Given the description of an element on the screen output the (x, y) to click on. 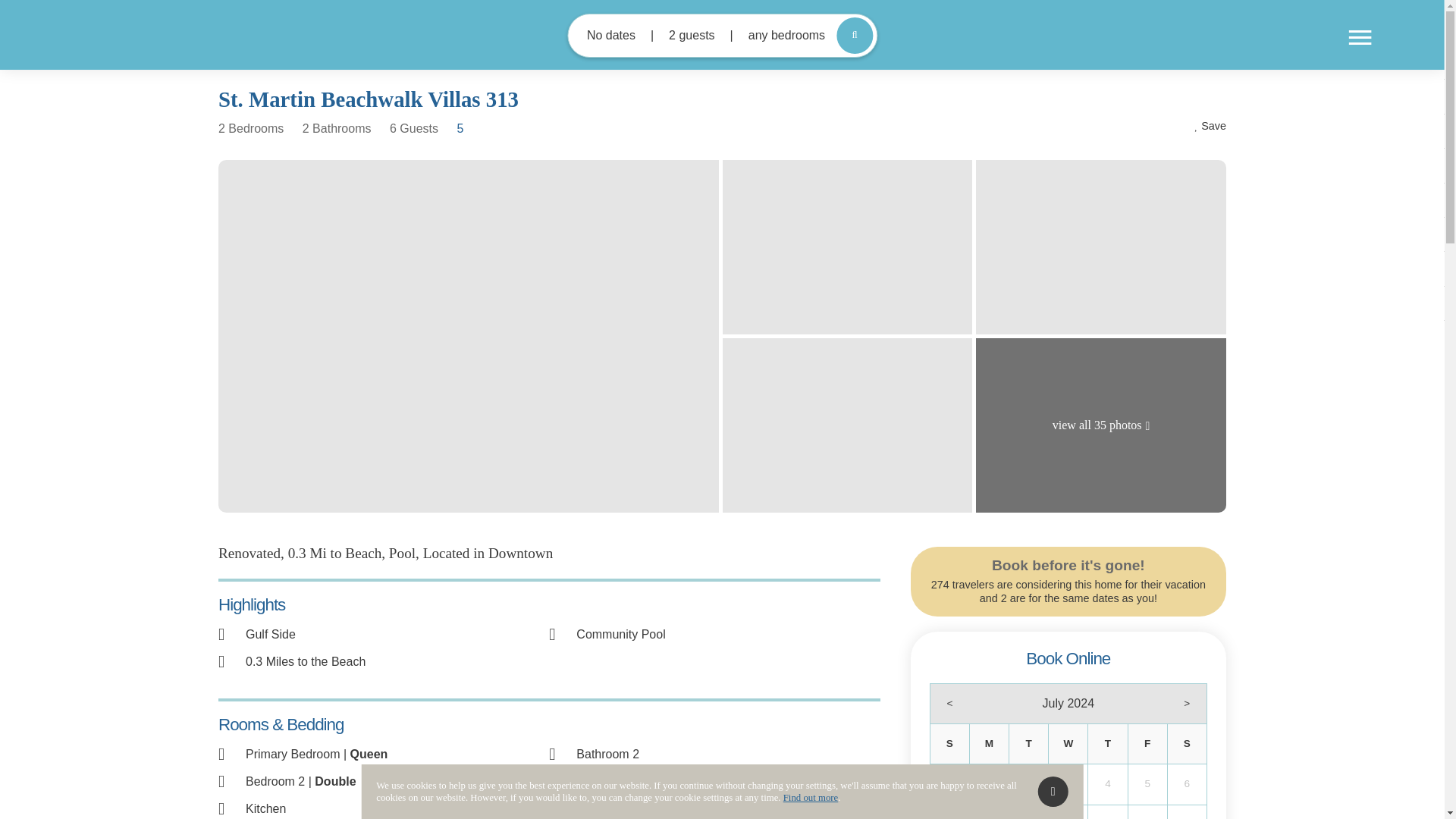
Menu (1360, 37)
